Given the description of an element on the screen output the (x, y) to click on. 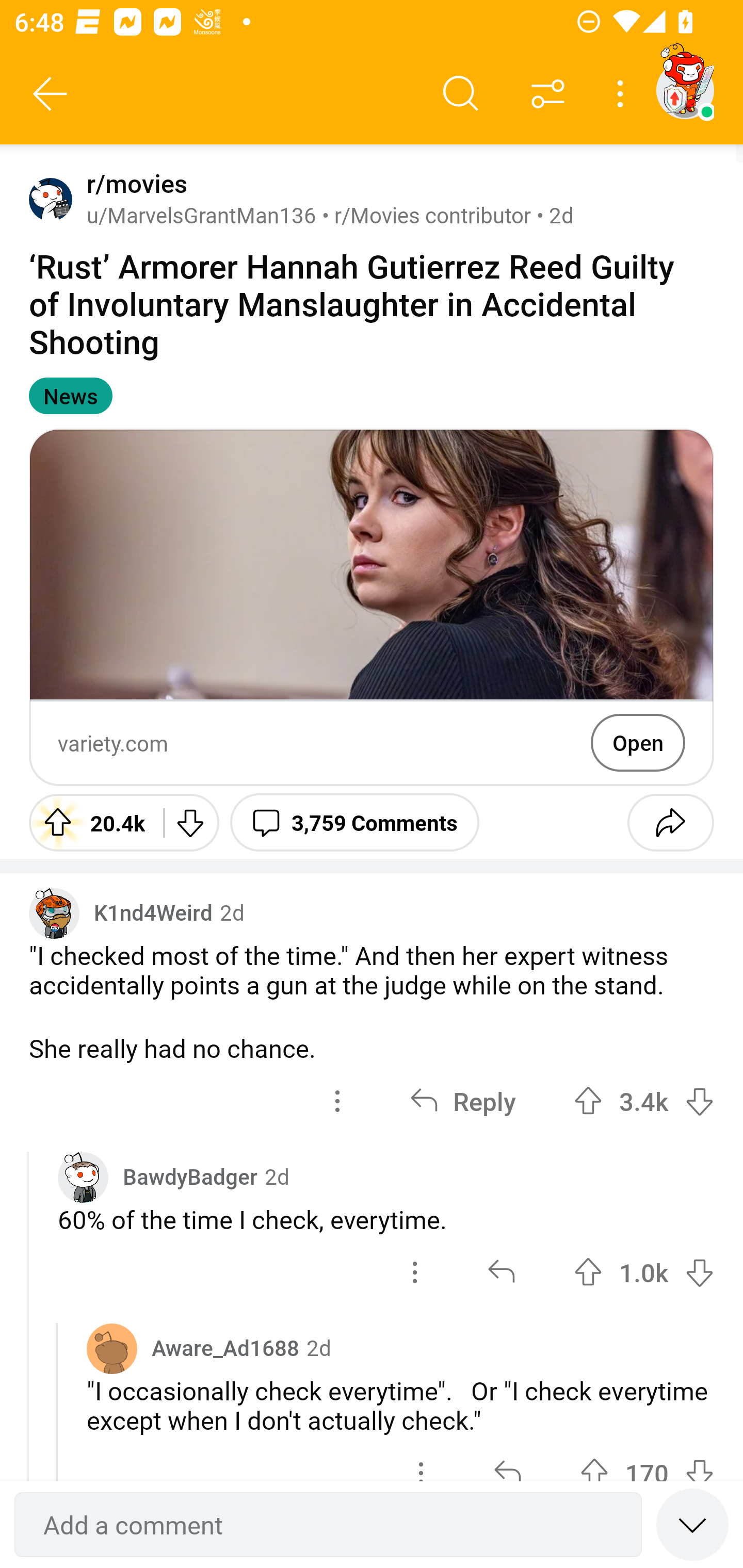
Back (50, 93)
TestAppium002 account (685, 90)
Search comments (460, 93)
Sort comments (547, 93)
More options (623, 93)
r/movies (133, 183)
Avatar (50, 199)
News (70, 395)
Preview Image variety.com Open (371, 606)
Open (637, 742)
Upvote 20.4k (88, 822)
Downvote (189, 822)
3,759 Comments (354, 822)
Share (670, 822)
Custom avatar (53, 912)
options (337, 1100)
Reply (462, 1100)
Upvote 3.4k 3422 votes Downvote (643, 1100)
Custom avatar (82, 1177)
60% of the time I check, everytime. (385, 1218)
options (414, 1272)
Upvote 1.0k 1007 votes Downvote (643, 1272)
Avatar (111, 1348)
Speed read (692, 1524)
Add a comment (327, 1524)
